Given the description of an element on the screen output the (x, y) to click on. 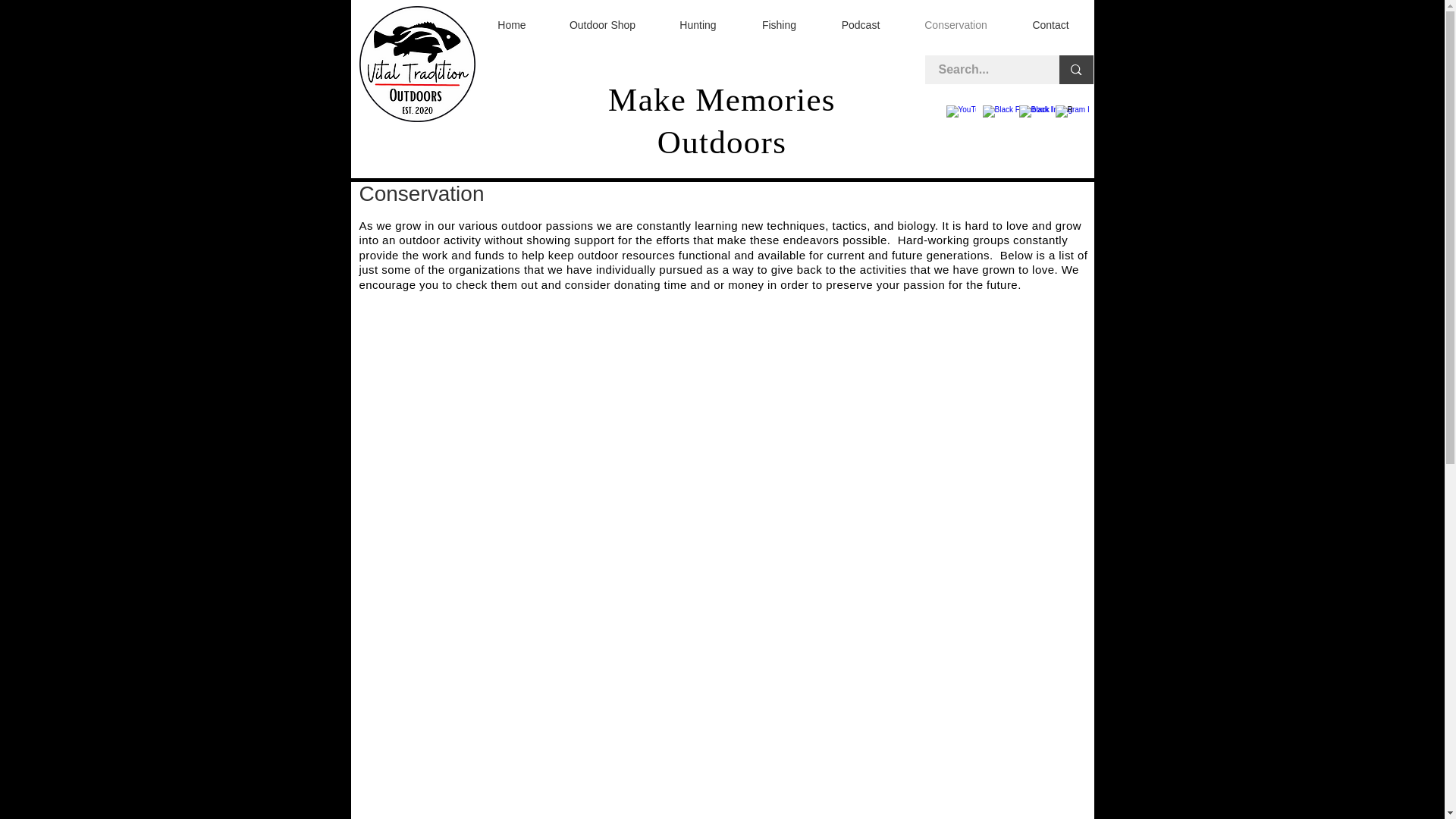
Contact (1050, 24)
Conservation (955, 24)
Home (511, 24)
Hunting (697, 24)
Fishing (778, 24)
Podcast (860, 24)
Outdoor Shop (602, 24)
